Given the description of an element on the screen output the (x, y) to click on. 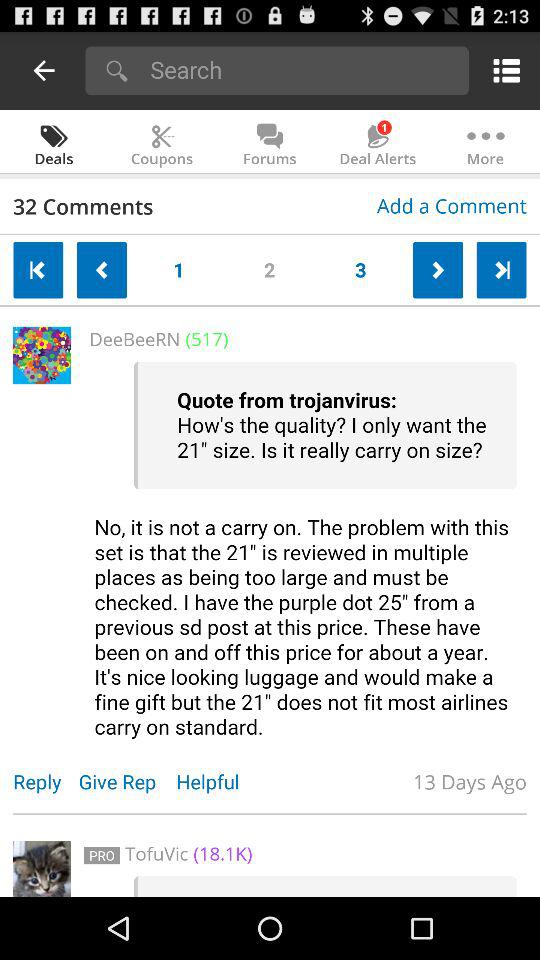
go to beginning (38, 270)
